Given the description of an element on the screen output the (x, y) to click on. 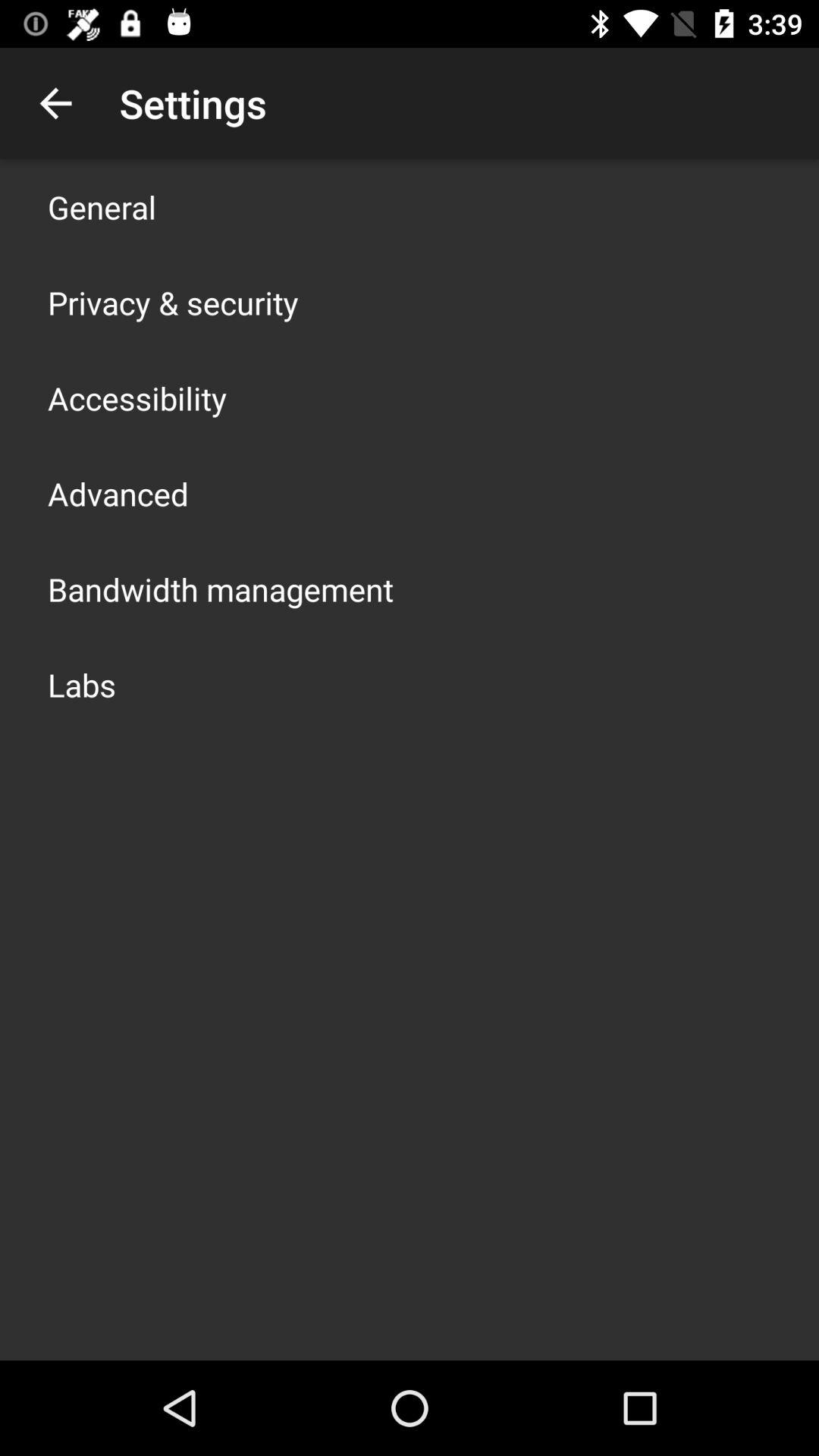
press icon above general (55, 103)
